Given the description of an element on the screen output the (x, y) to click on. 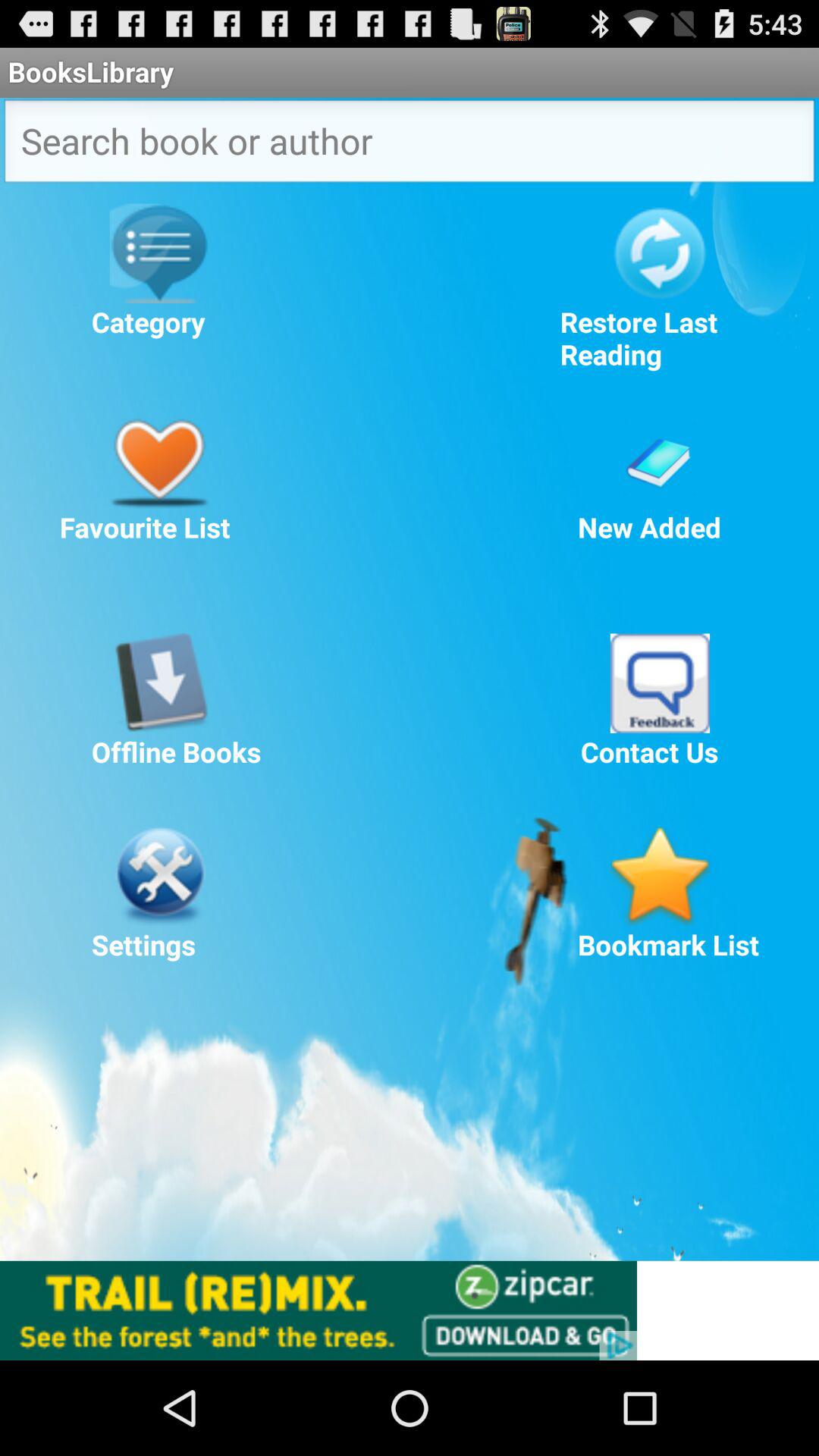
go to settings page (158, 875)
